Given the description of an element on the screen output the (x, y) to click on. 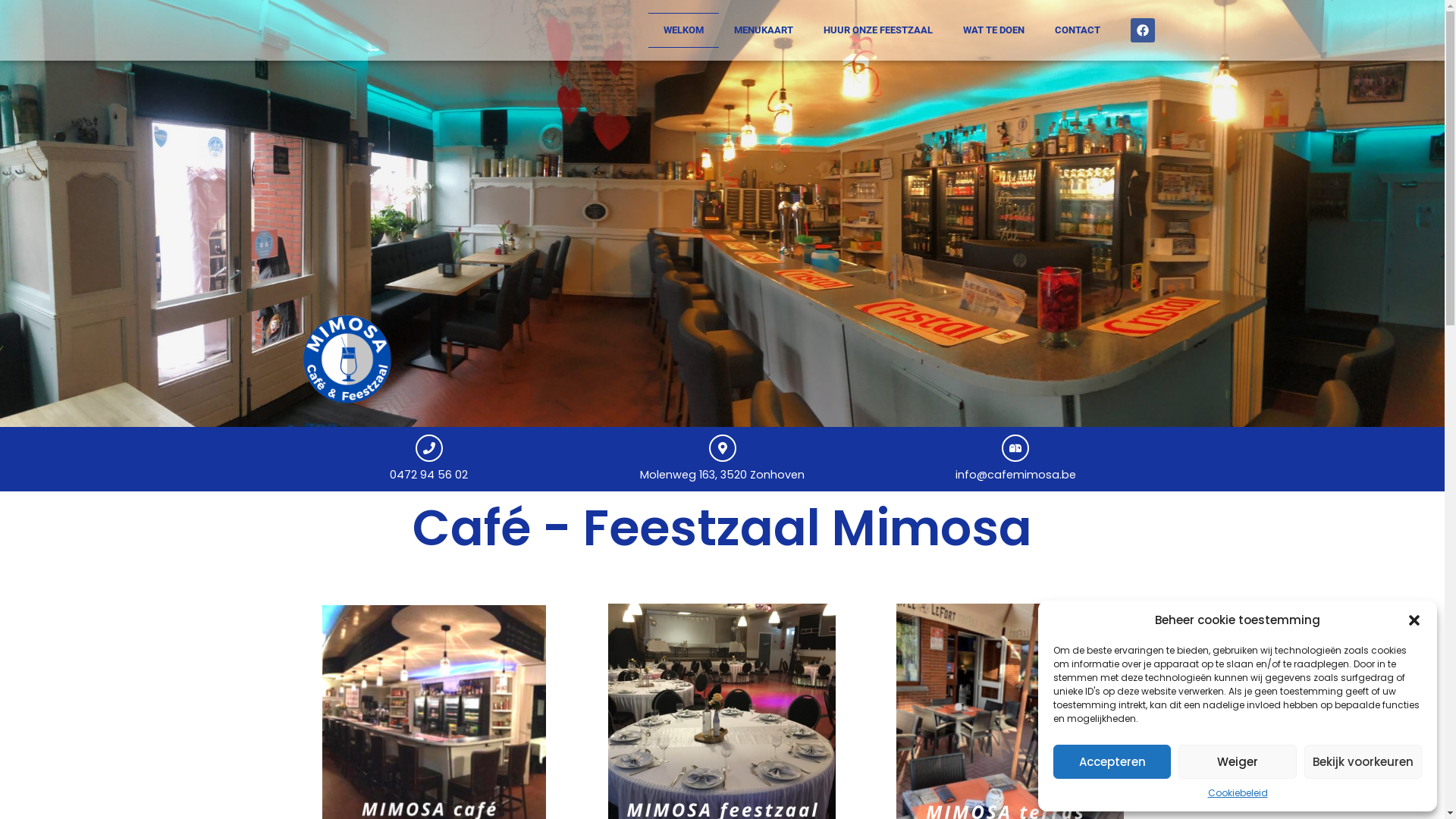
Weiger Element type: text (1236, 761)
WELKOM Element type: text (682, 29)
info@cafemimosa.be Element type: text (1015, 474)
MENUKAART Element type: text (763, 29)
HUUR ONZE FEESTZAAL Element type: text (877, 29)
CONTACT Element type: text (1076, 29)
Cookiebeleid Element type: text (1237, 793)
0472 94 56 02 Element type: text (428, 474)
Accepteren Element type: text (1111, 761)
Bekijk voorkeuren Element type: text (1362, 761)
WAT TE DOEN Element type: text (993, 29)
